Given the description of an element on the screen output the (x, y) to click on. 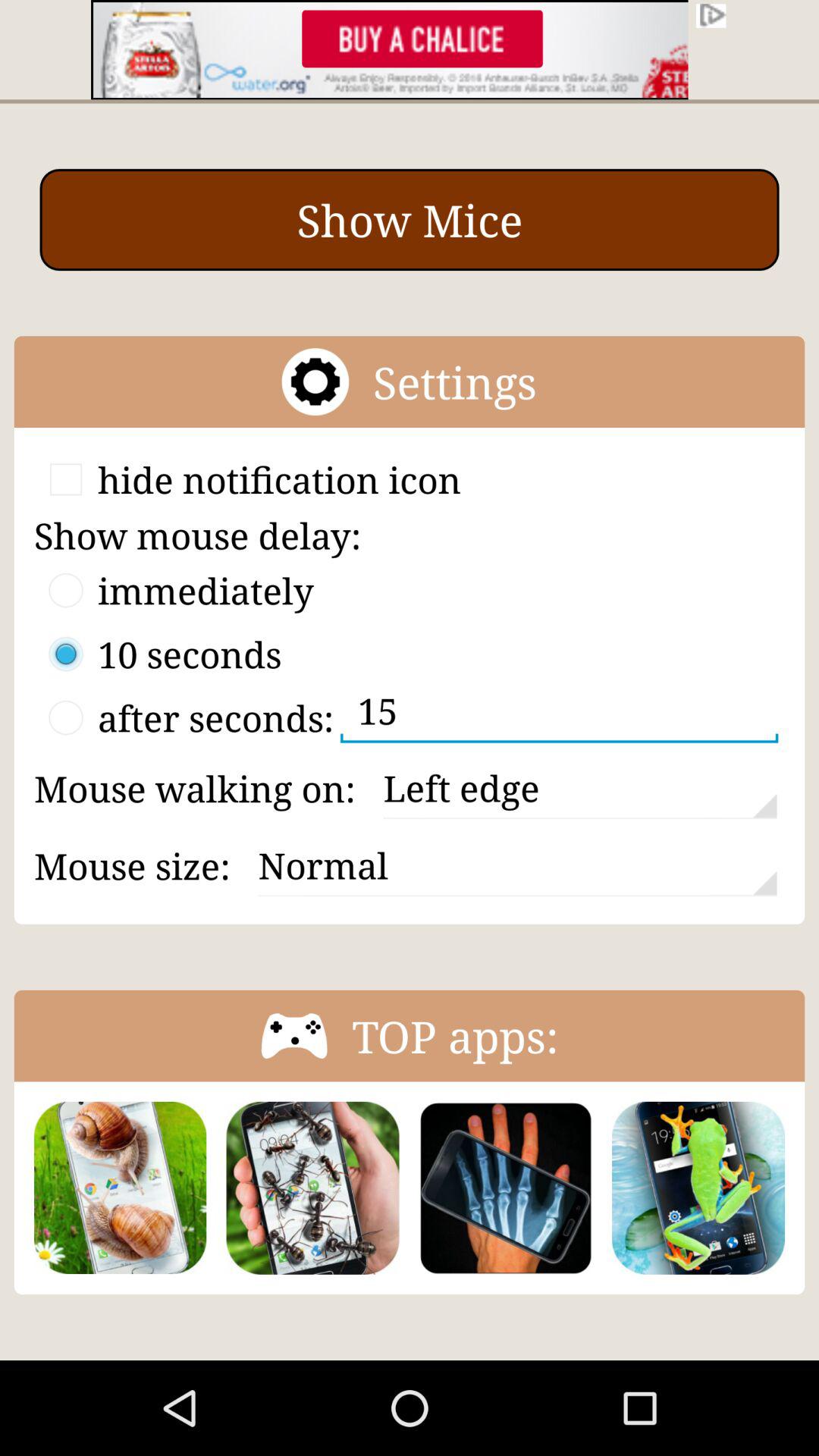
select advertisement (409, 49)
